Given the description of an element on the screen output the (x, y) to click on. 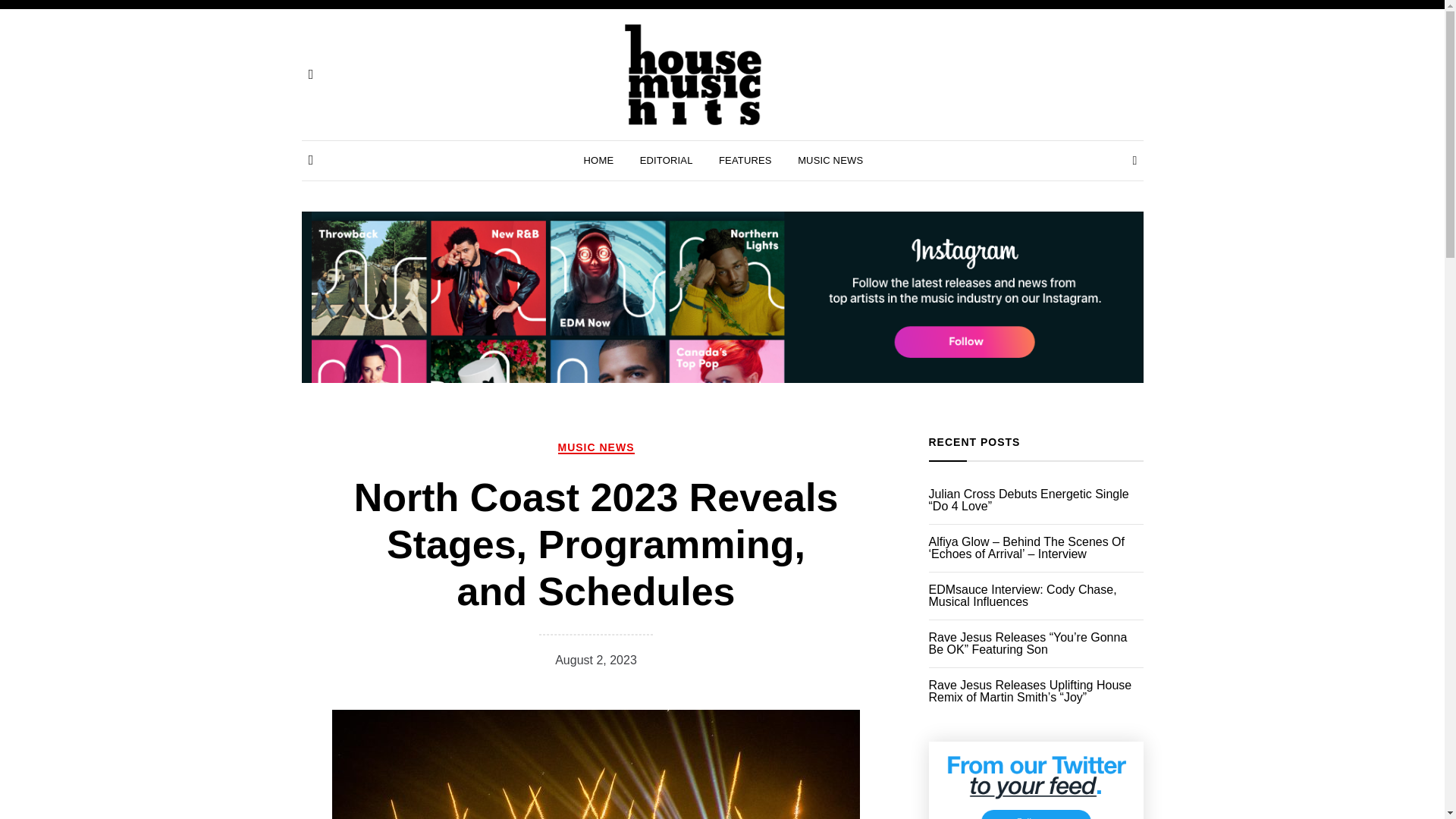
EDMsauce Interview: Cody Chase, Musical Influences (1035, 595)
EDITORIAL (666, 160)
Logo (692, 74)
HOME (598, 160)
MUSIC NEWS (595, 447)
FEATURES (745, 160)
MUSIC NEWS (830, 160)
